Given the description of an element on the screen output the (x, y) to click on. 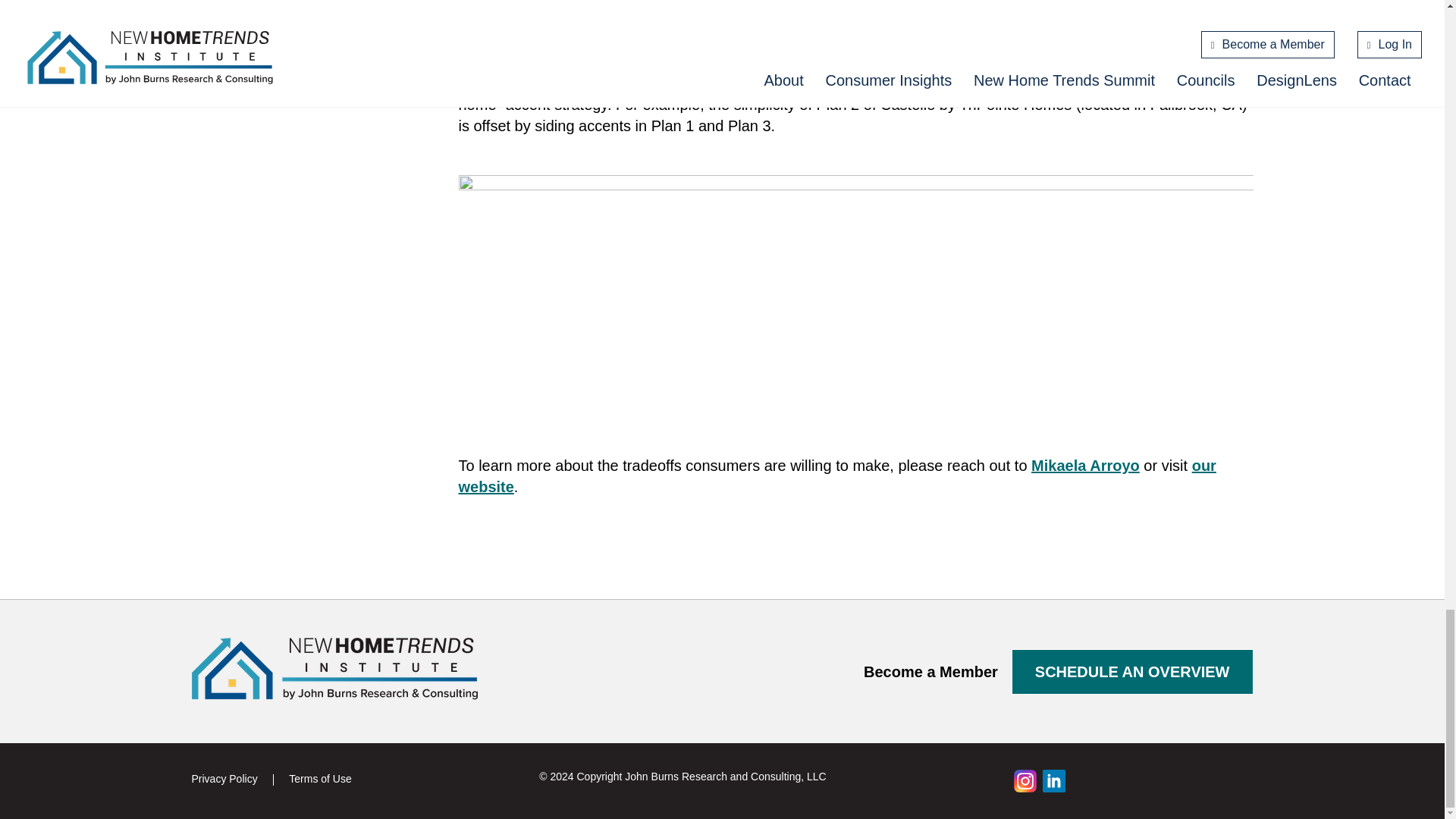
our website (836, 476)
SCHEDULE AN OVERVIEW (1132, 671)
Mikaela Arroyo (1085, 465)
Terms of Use (319, 778)
Privacy Policy (223, 778)
